Given the description of an element on the screen output the (x, y) to click on. 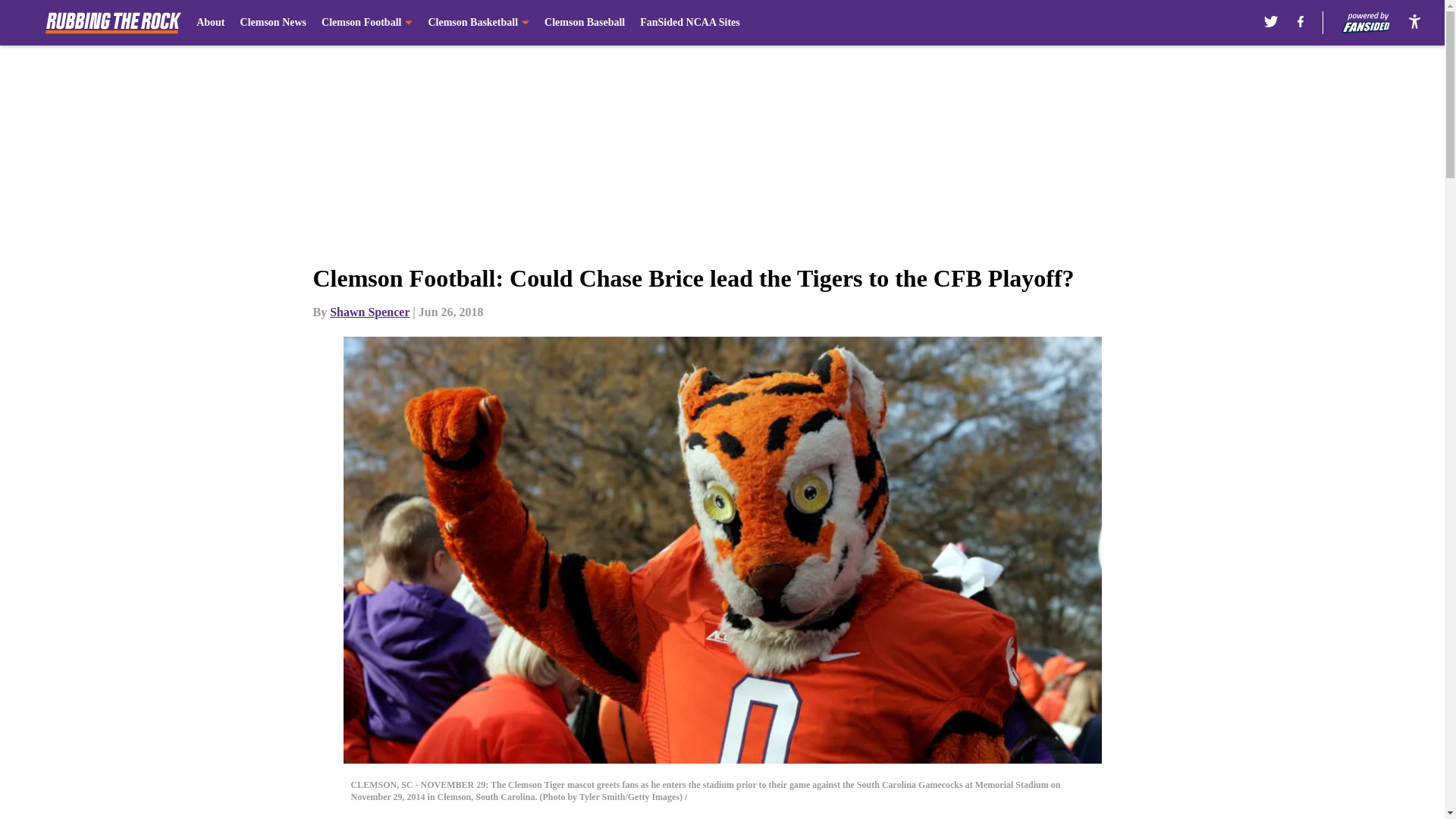
Clemson Baseball (584, 22)
About (210, 22)
Clemson News (273, 22)
FanSided NCAA Sites (689, 22)
Shawn Spencer (369, 311)
